Given the description of an element on the screen output the (x, y) to click on. 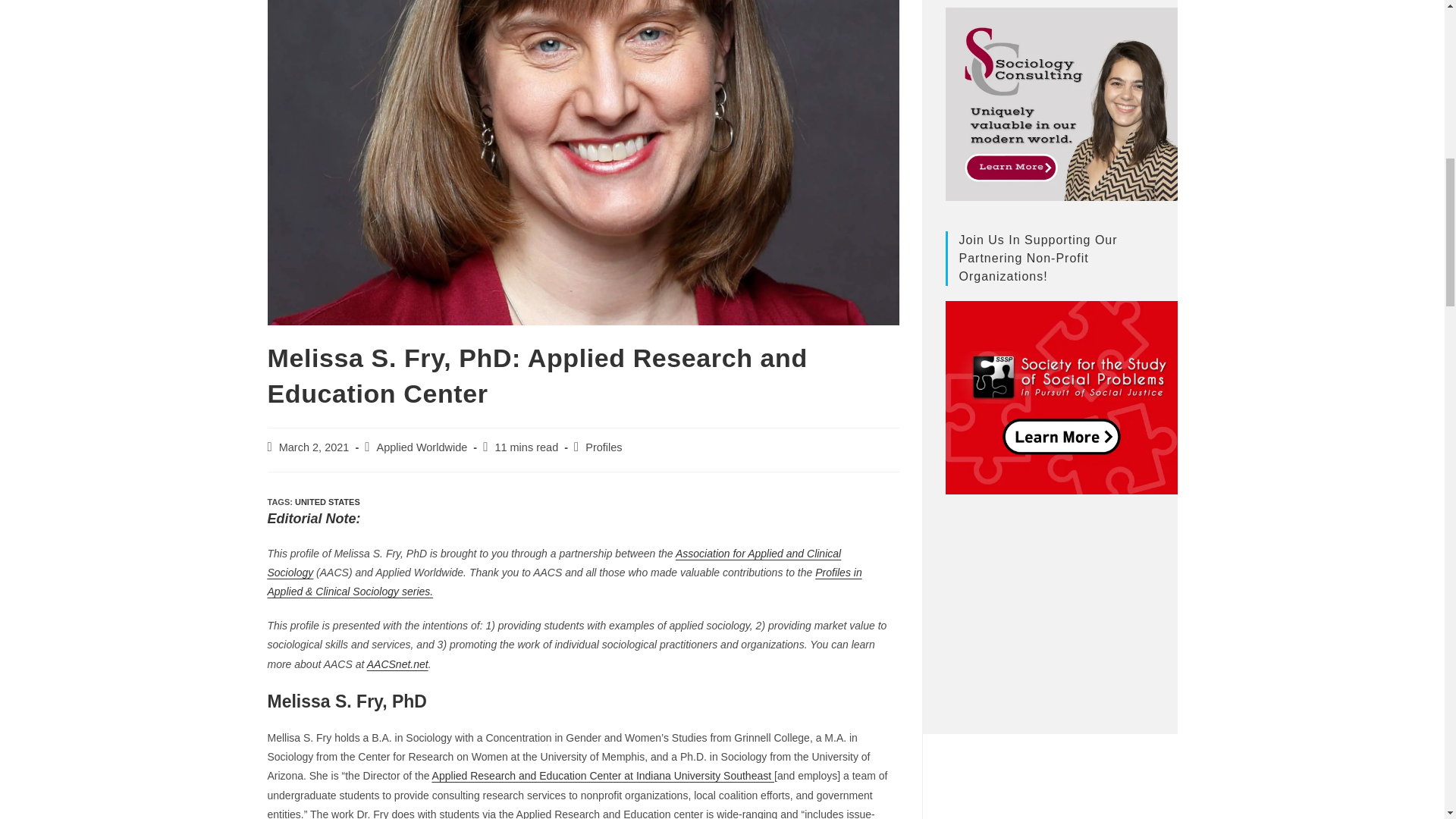
AACSnet.net (397, 664)
Posts by Applied Worldwide (421, 447)
Profiles (603, 447)
Applied Worldwide (421, 447)
AACSnet.net (397, 664)
UNITED STATES (327, 501)
Association for Applied and Clinical Sociology (553, 562)
